Given the description of an element on the screen output the (x, y) to click on. 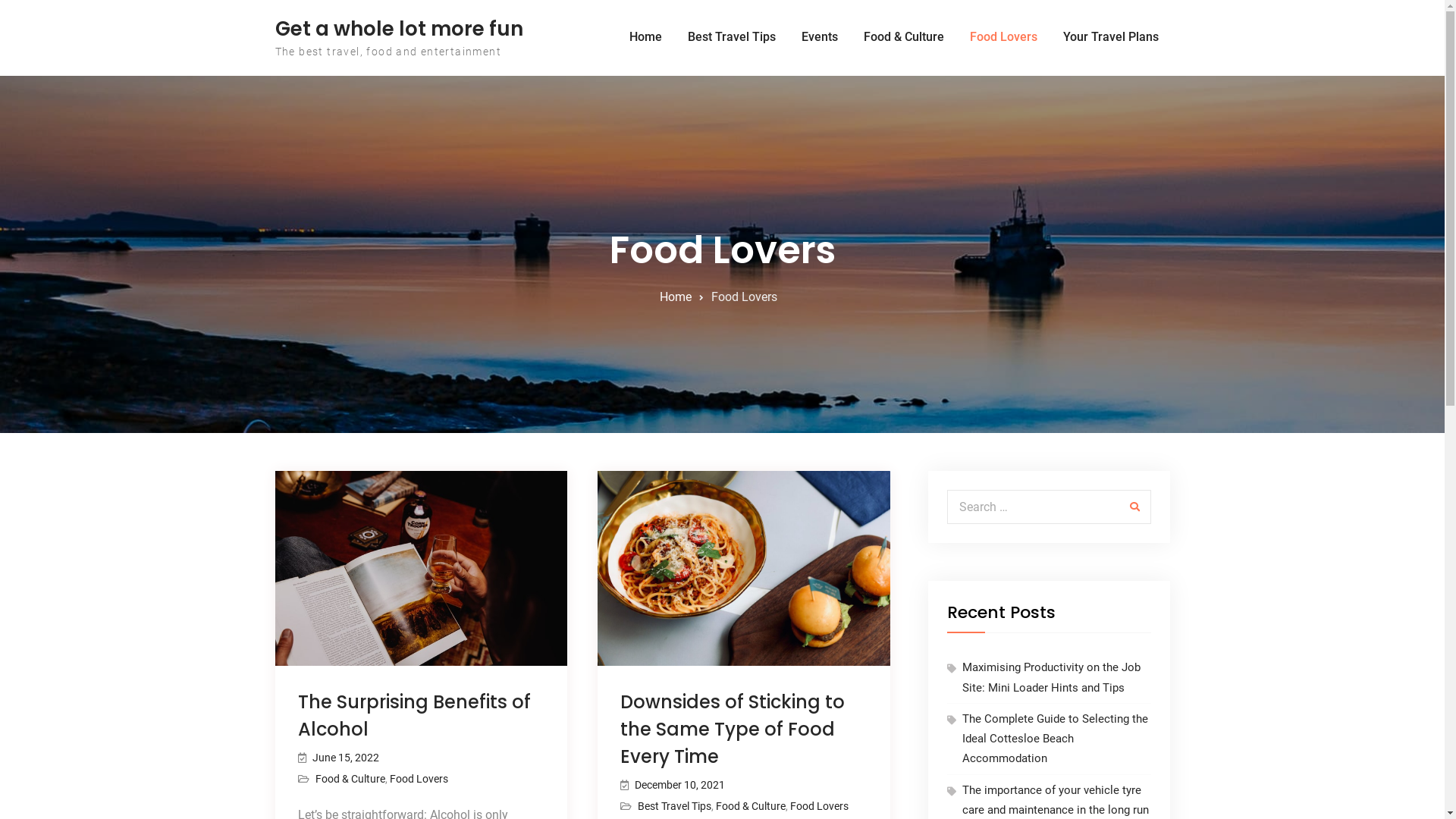
Food & Culture Element type: text (750, 806)
Food Lovers Element type: text (819, 806)
June 15, 2022 Element type: text (345, 757)
Home Element type: text (644, 36)
Best Travel Tips Element type: text (674, 806)
Get a whole lot more fun Element type: text (398, 28)
Downsides of Sticking to the Same Type of Food Every Time Element type: text (732, 728)
Food & Culture Element type: text (350, 778)
Home Element type: text (675, 296)
The Surprising Benefits of Alcohol Element type: text (413, 715)
Food & Culture Element type: text (903, 36)
Food Lovers Element type: text (1003, 36)
Events Element type: text (819, 36)
Skip to content Element type: text (0, 0)
Food Lovers Element type: text (418, 778)
Best Travel Tips Element type: text (731, 36)
Your Travel Plans Element type: text (1110, 36)
December 10, 2021 Element type: text (679, 784)
